Given the description of an element on the screen output the (x, y) to click on. 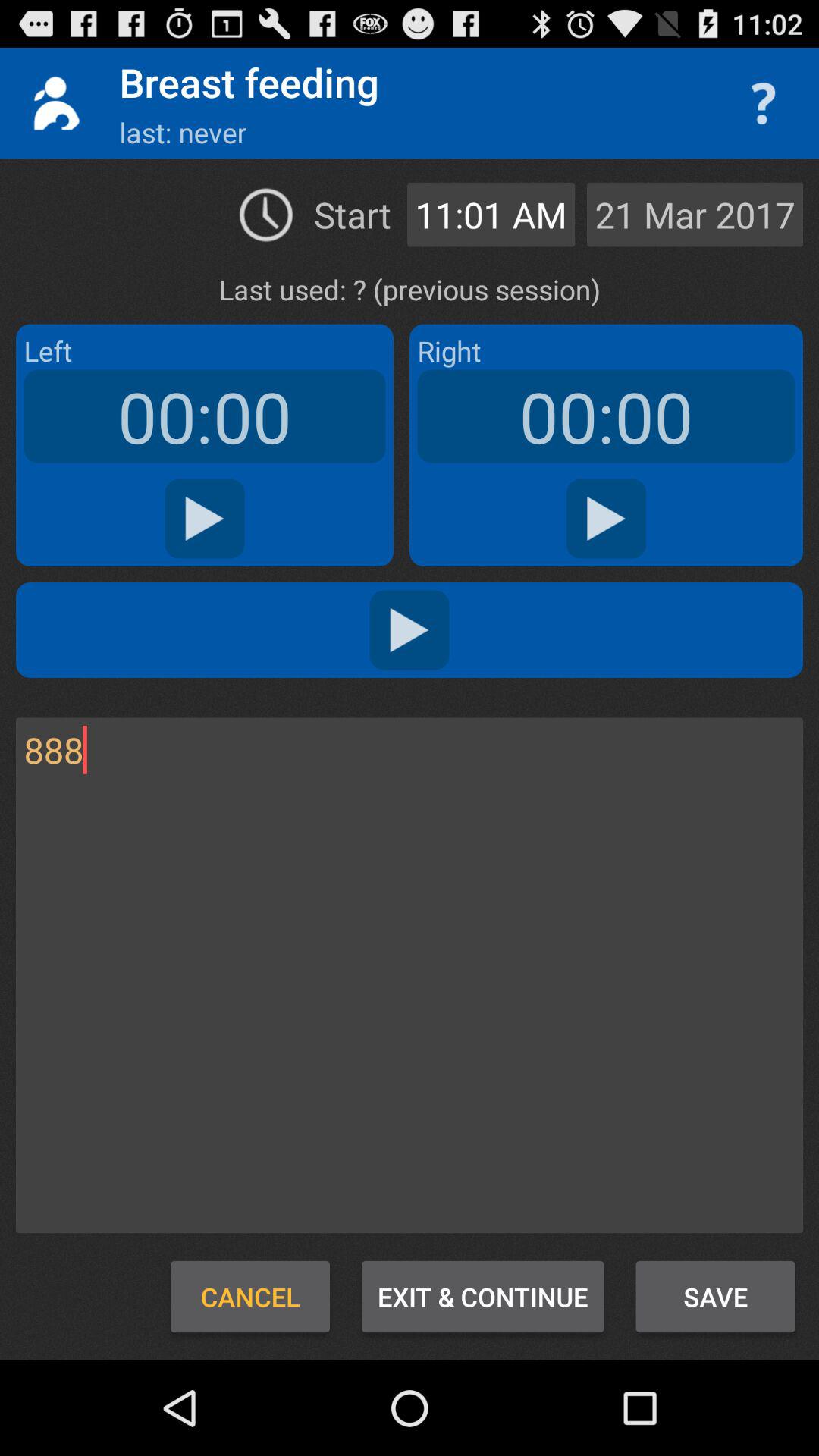
play the audio (409, 629)
